Given the description of an element on the screen output the (x, y) to click on. 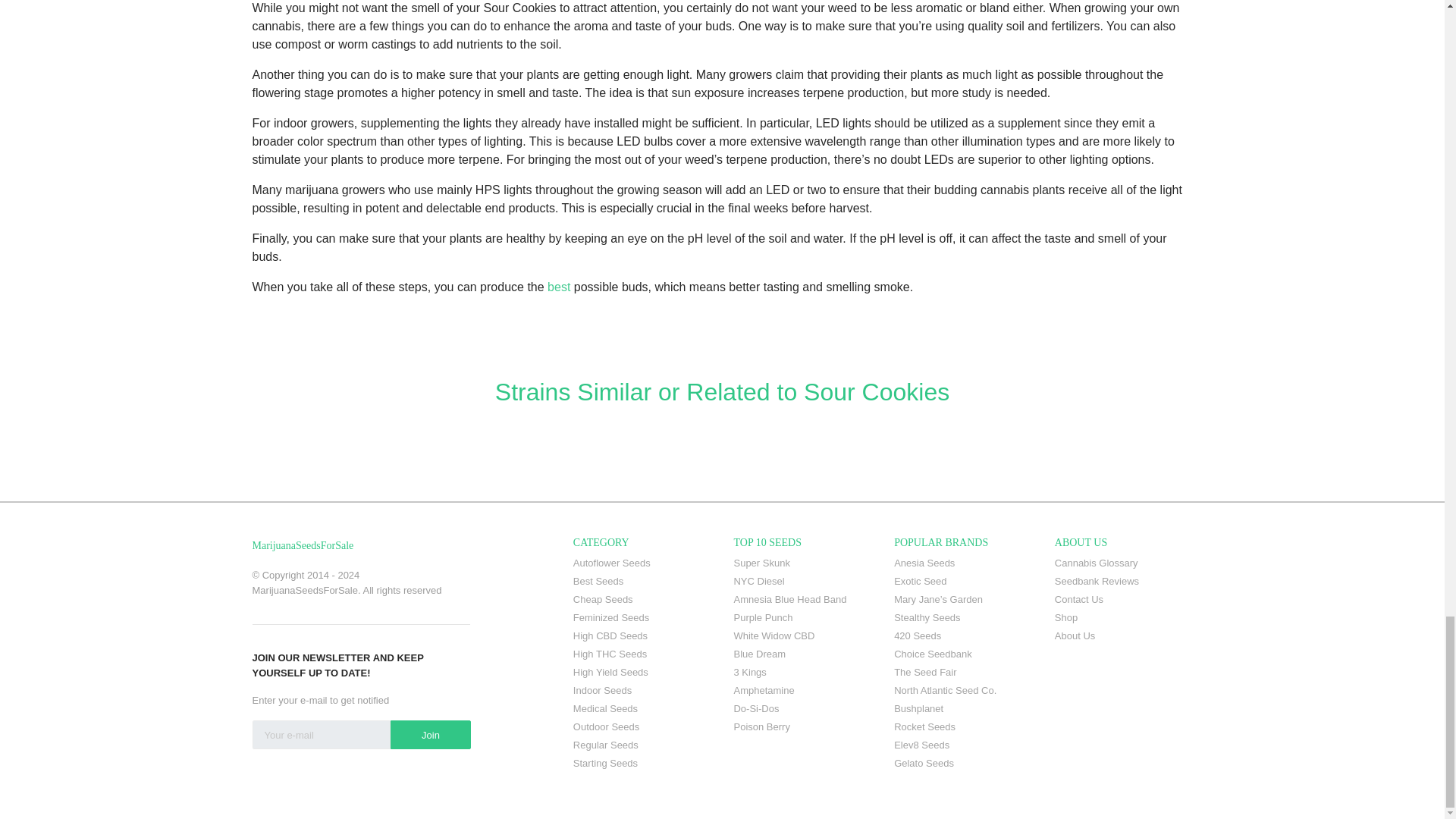
Seedbank Reviews (1123, 581)
Join (430, 734)
best (558, 286)
Cannabis Glossary (1123, 563)
